Given the description of an element on the screen output the (x, y) to click on. 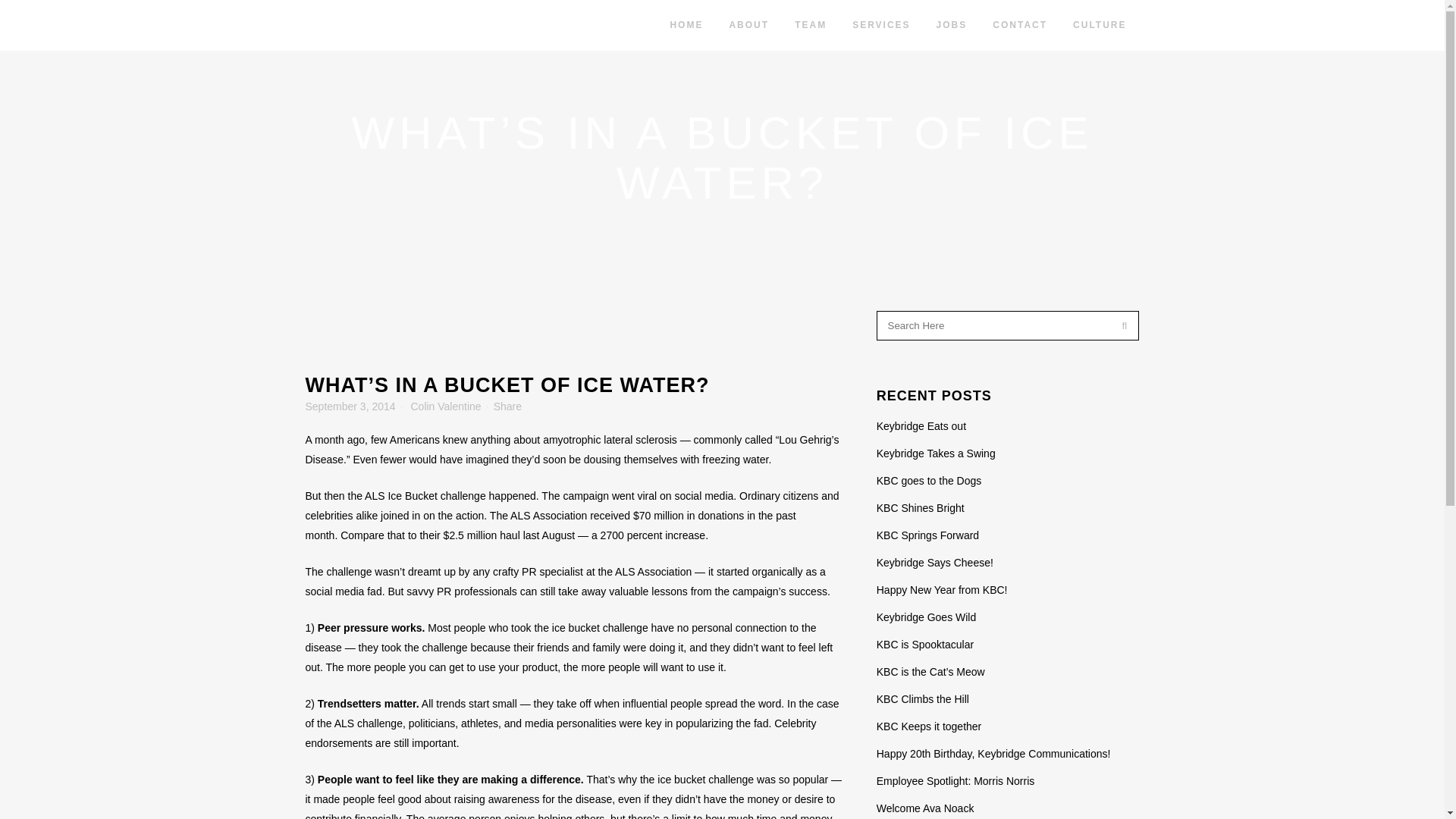
KBC is Spooktacular (925, 644)
KBC Shines Bright (919, 508)
KBC Springs Forward (927, 535)
SERVICES (881, 25)
Keybridge Says Cheese! (934, 562)
TEAM (810, 25)
Keybridge Eats out (921, 426)
Happy New Year from KBC! (941, 589)
ABOUT (748, 25)
HOME (686, 25)
JOBS (951, 25)
CONTACT (1019, 25)
Keybridge Takes a Swing (935, 453)
KBC goes to the Dogs (928, 480)
Keybridge Goes Wild (926, 616)
